Given the description of an element on the screen output the (x, y) to click on. 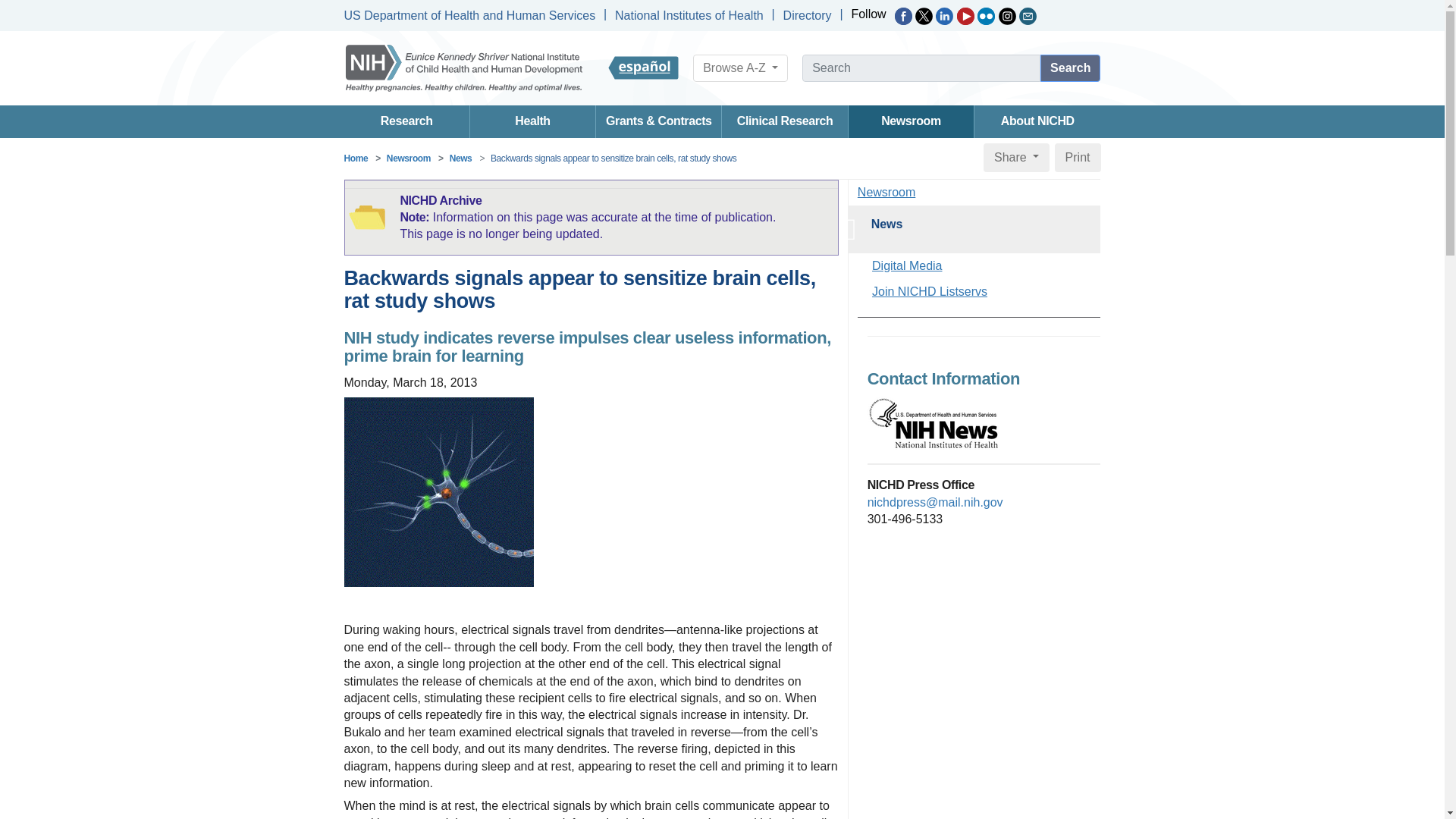
follow us on Instagram (1007, 16)
Browse A-Z Topics (740, 67)
US Department of Health and Human Services (469, 15)
facebook (903, 16)
linkedin (944, 16)
follow us on Flickr (985, 16)
National Institutes of Health (688, 15)
flickr (985, 16)
Browse A-Z (740, 67)
Email NICHD (1027, 16)
youtube (965, 16)
X (924, 16)
follow us on X (924, 16)
Directory (807, 15)
